Given the description of an element on the screen output the (x, y) to click on. 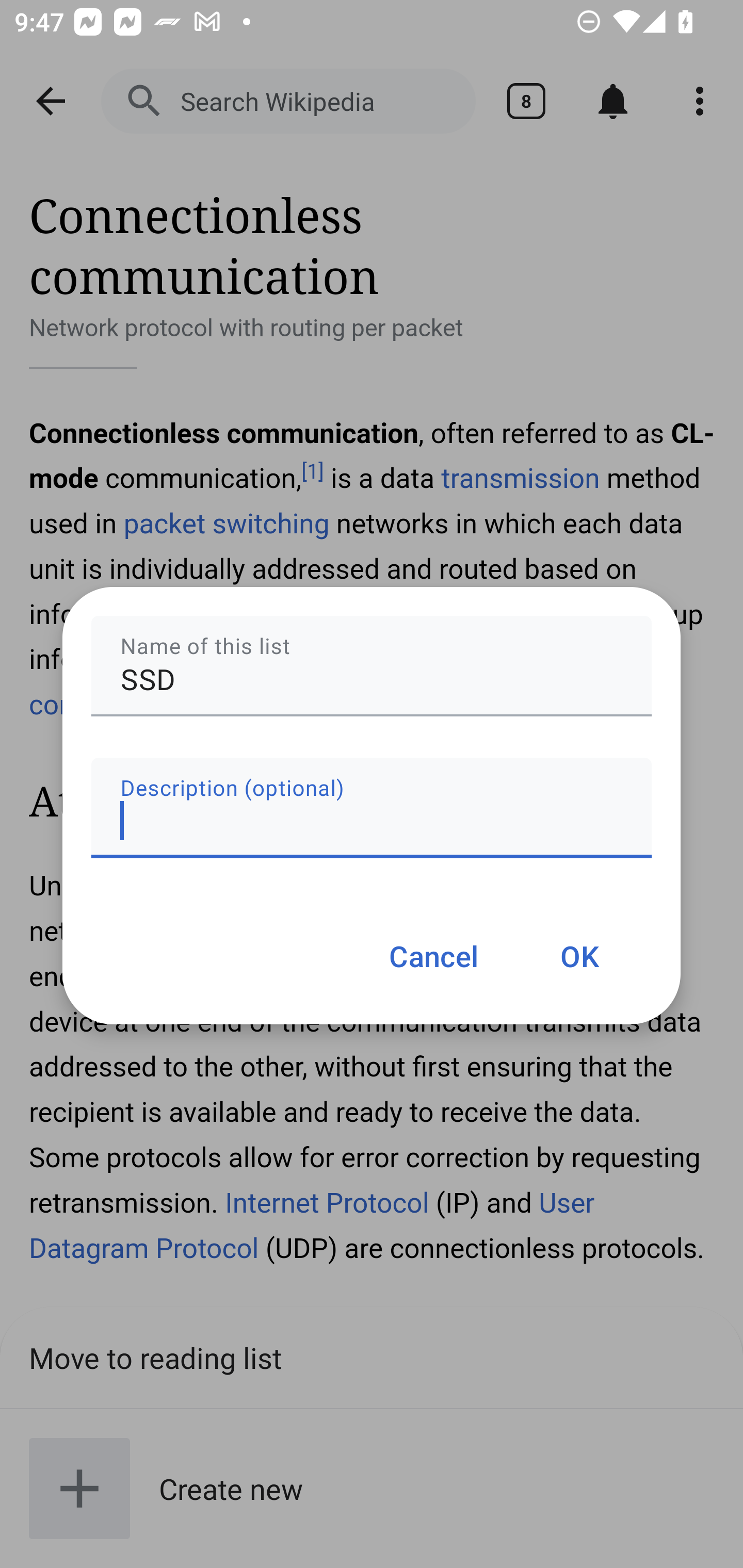
SSD (371, 666)
Description (optional) (371, 807)
Cancel (433, 955)
OK (579, 955)
